Given the description of an element on the screen output the (x, y) to click on. 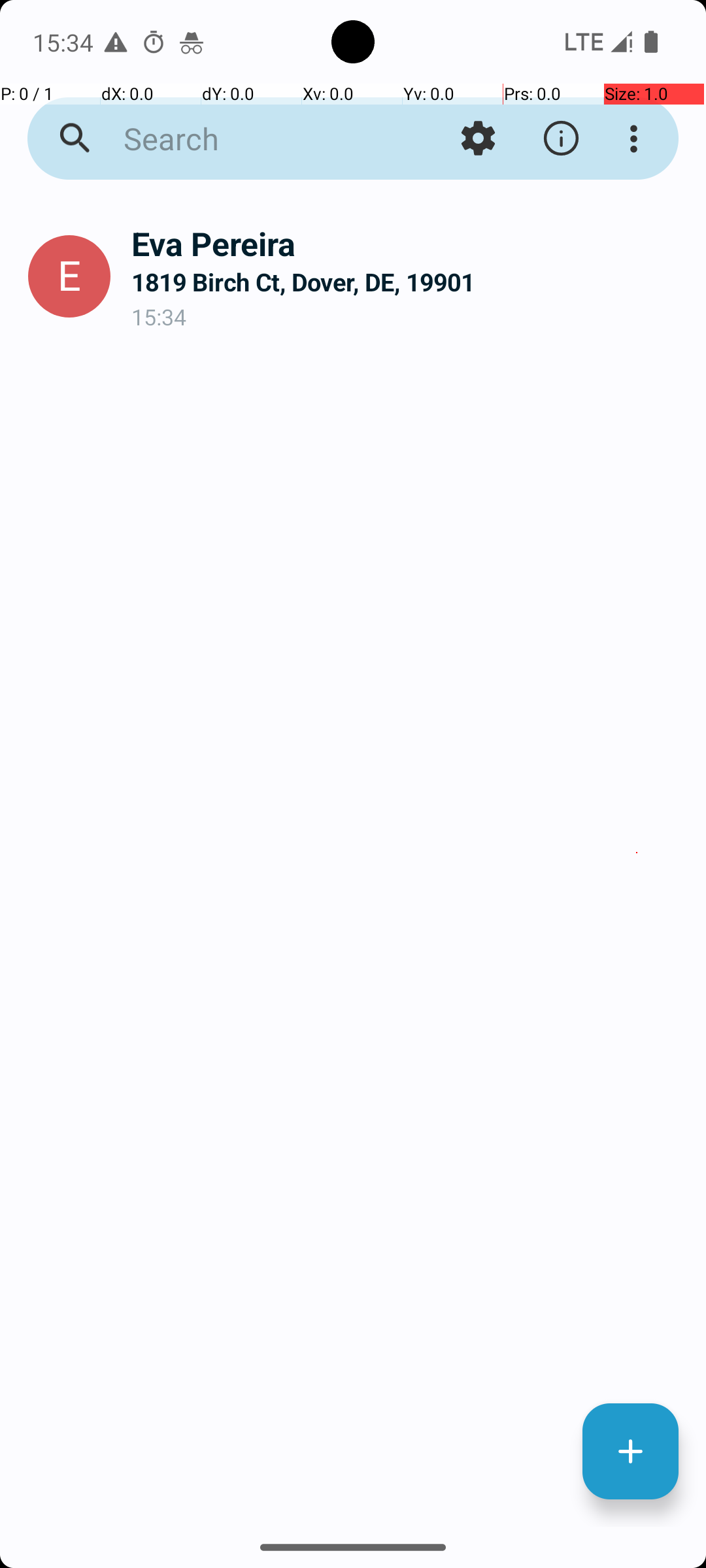
Eva Pereira Element type: android.widget.TextView (408, 242)
1819 Birch Ct, Dover, DE, 19901 Element type: android.widget.TextView (408, 281)
